Given the description of an element on the screen output the (x, y) to click on. 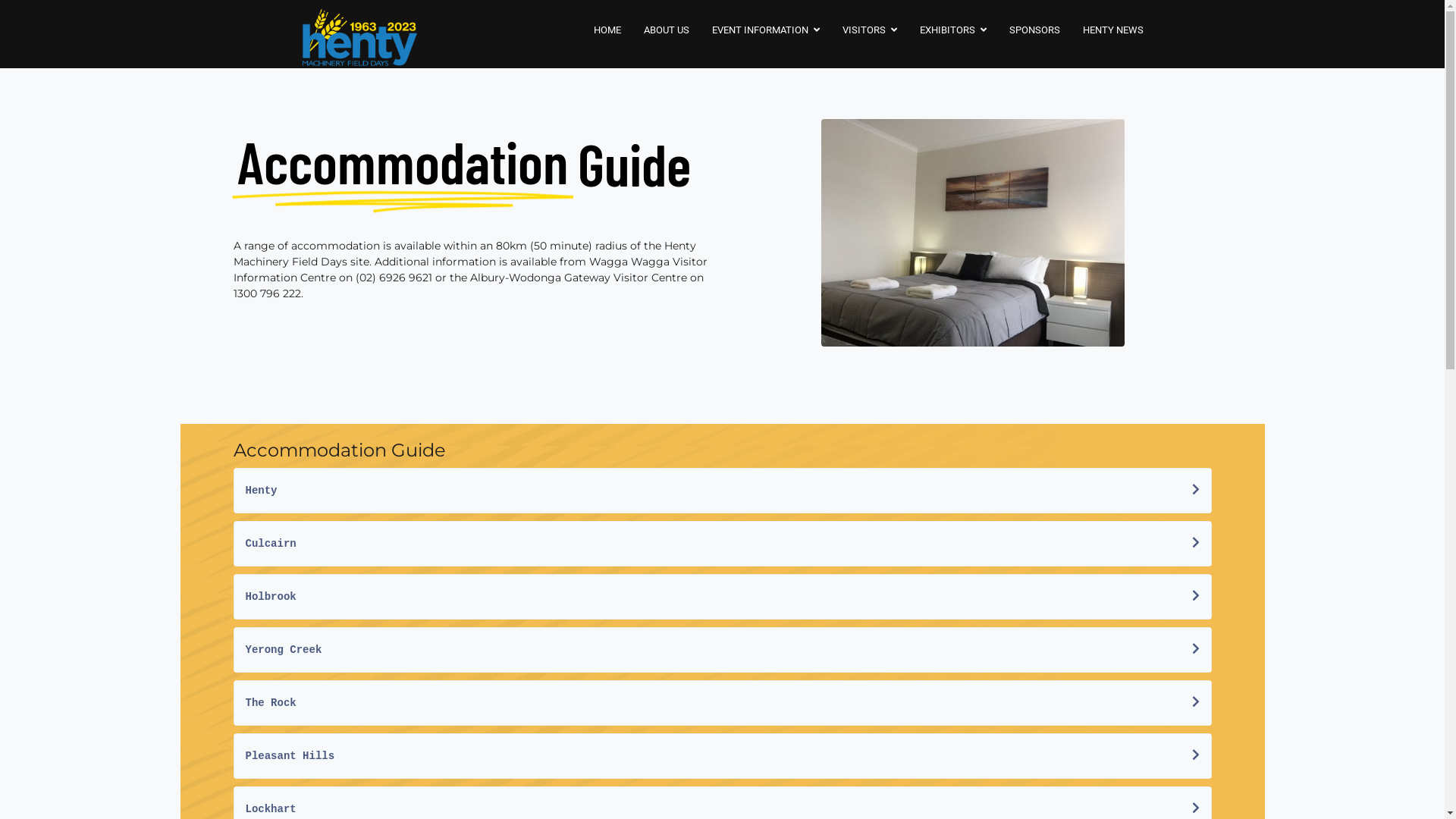
VISITORS Element type: text (869, 30)
SPONSORS Element type: text (1034, 30)
EVENT INFORMATION Element type: text (765, 30)
EXHIBITORS Element type: text (952, 30)
ABOUT US Element type: text (666, 30)
HOME Element type: text (607, 30)
HENTY NEWS Element type: text (1112, 30)
